Given the description of an element on the screen output the (x, y) to click on. 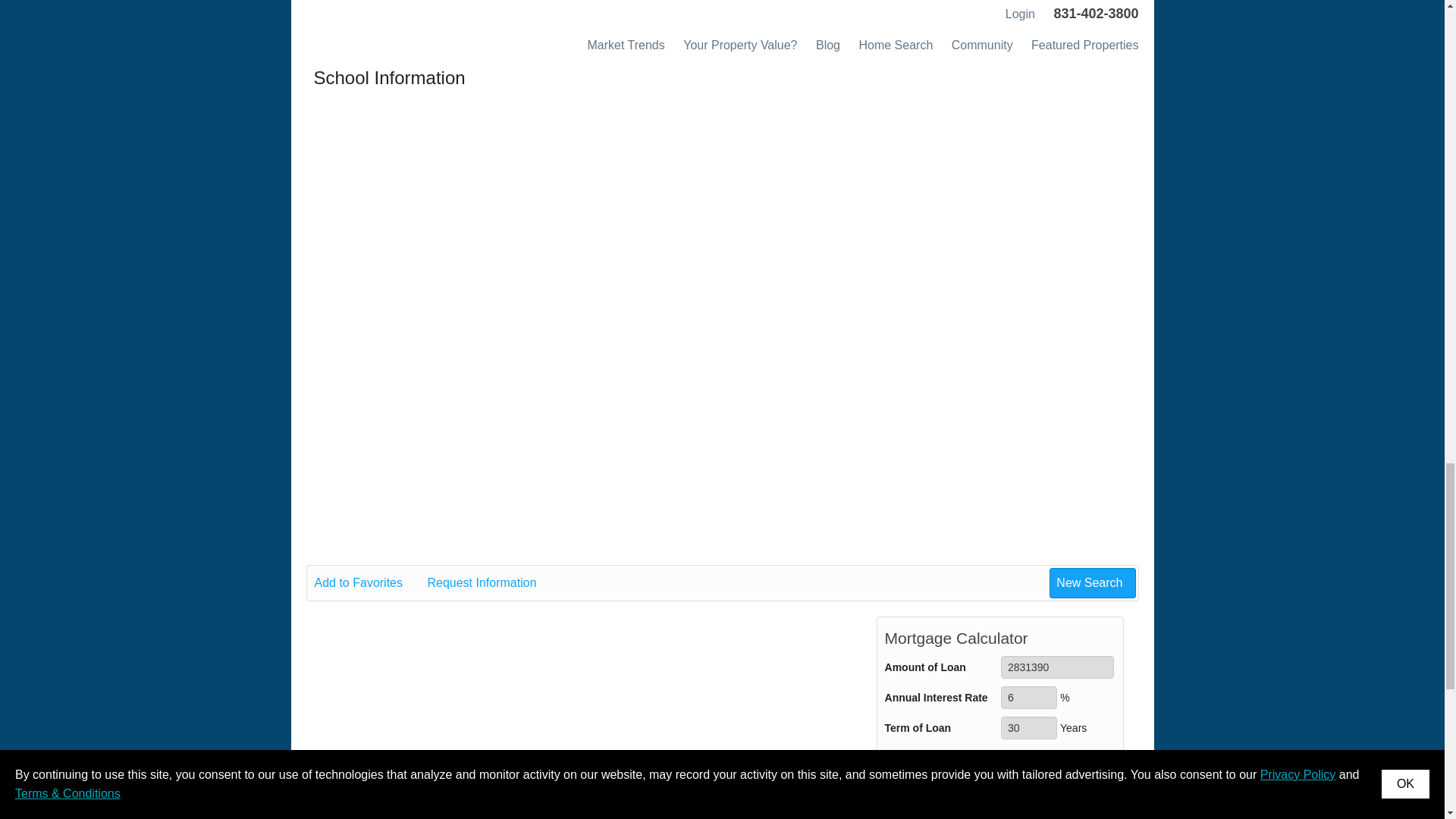
30 (1029, 727)
2831390 (1057, 667)
6 (1029, 697)
